Given the description of an element on the screen output the (x, y) to click on. 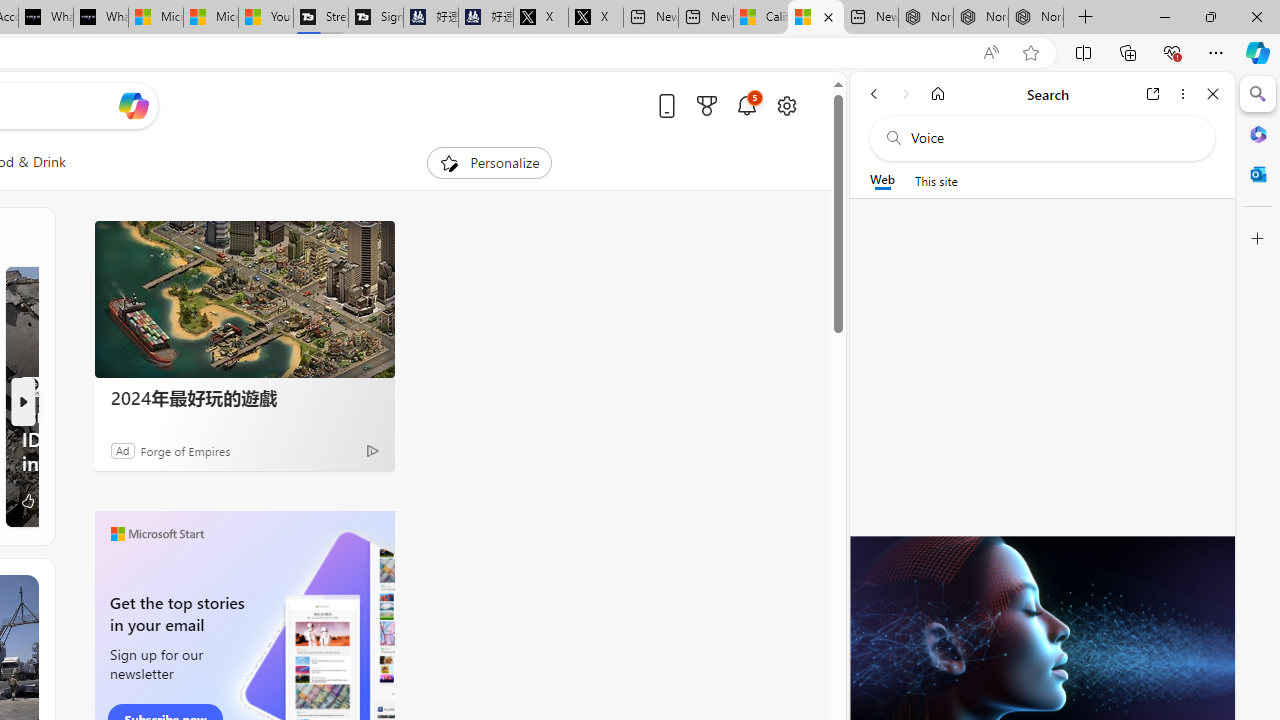
570 Like (38, 500)
Search the web (1051, 137)
Notifications (746, 105)
Home (938, 93)
Open link in new tab (1153, 93)
Customize (1258, 239)
Nordace - Best Sellers (925, 17)
